Given the description of an element on the screen output the (x, y) to click on. 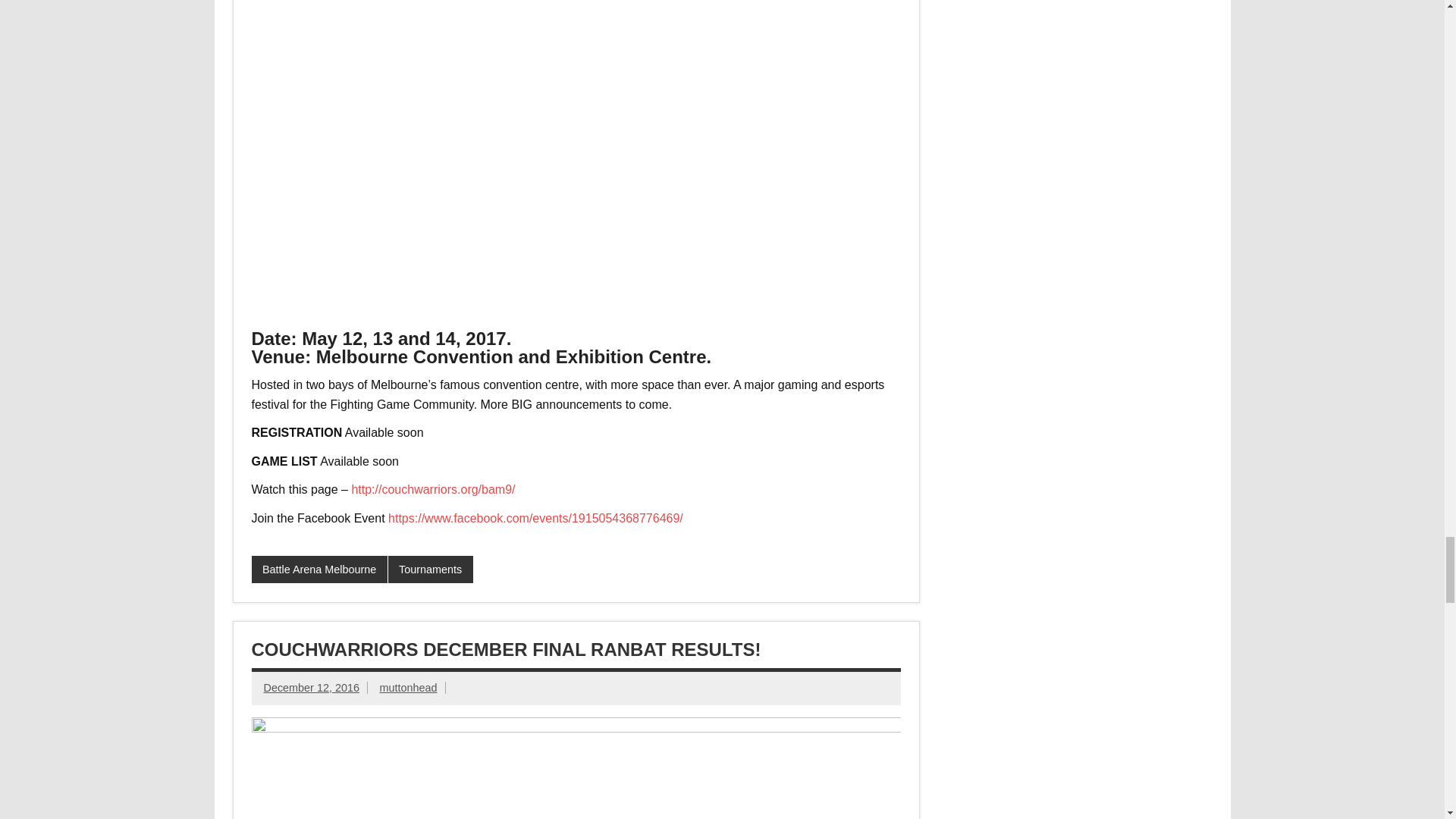
5:02 pm (311, 687)
View all posts by muttonhead (407, 687)
